Given the description of an element on the screen output the (x, y) to click on. 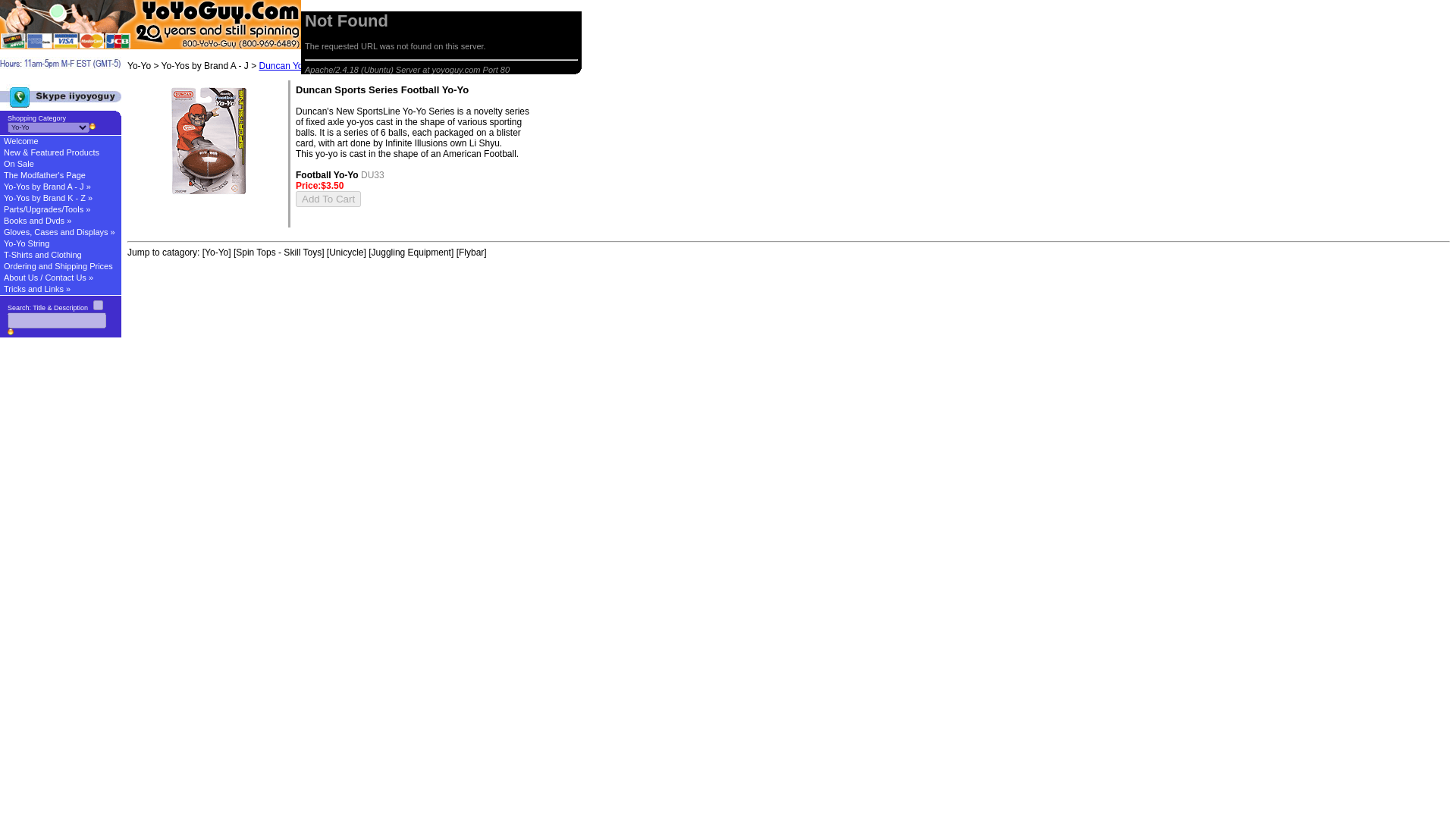
The Modfather's Page (60, 174)
Welcome (60, 141)
Duncan Yo-yos (289, 65)
On Sale (60, 163)
